Given the description of an element on the screen output the (x, y) to click on. 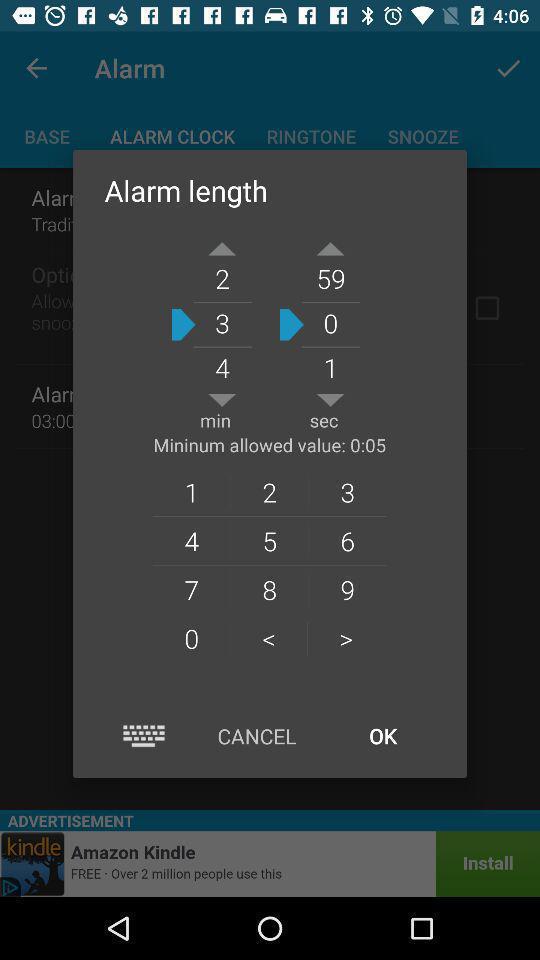
press item to the right of 8 item (345, 638)
